Given the description of an element on the screen output the (x, y) to click on. 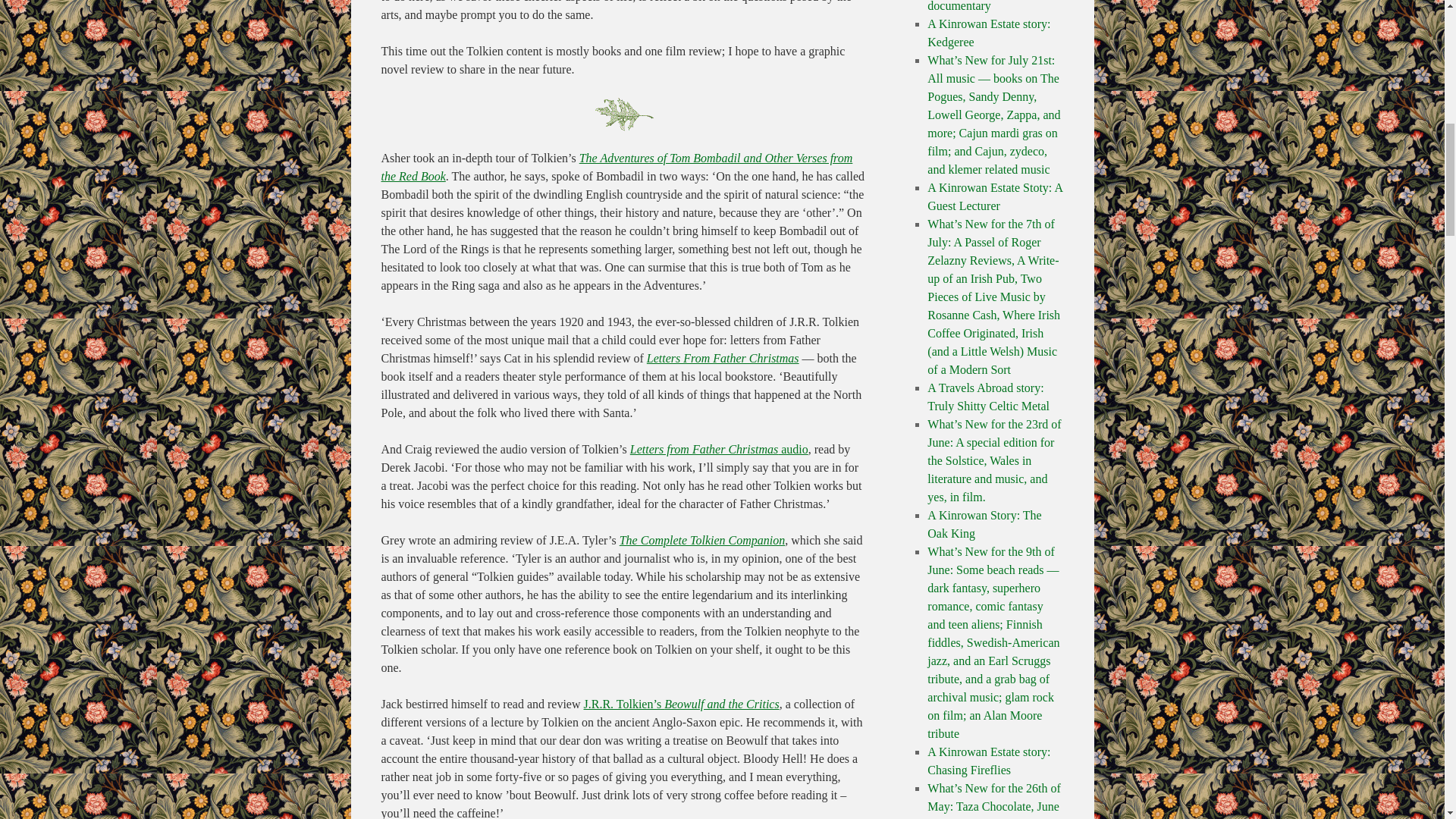
The Complete Tolkien Companion (703, 540)
Letters from Father Christmas audio (719, 449)
Letters From Father Christmas (722, 358)
